Given the description of an element on the screen output the (x, y) to click on. 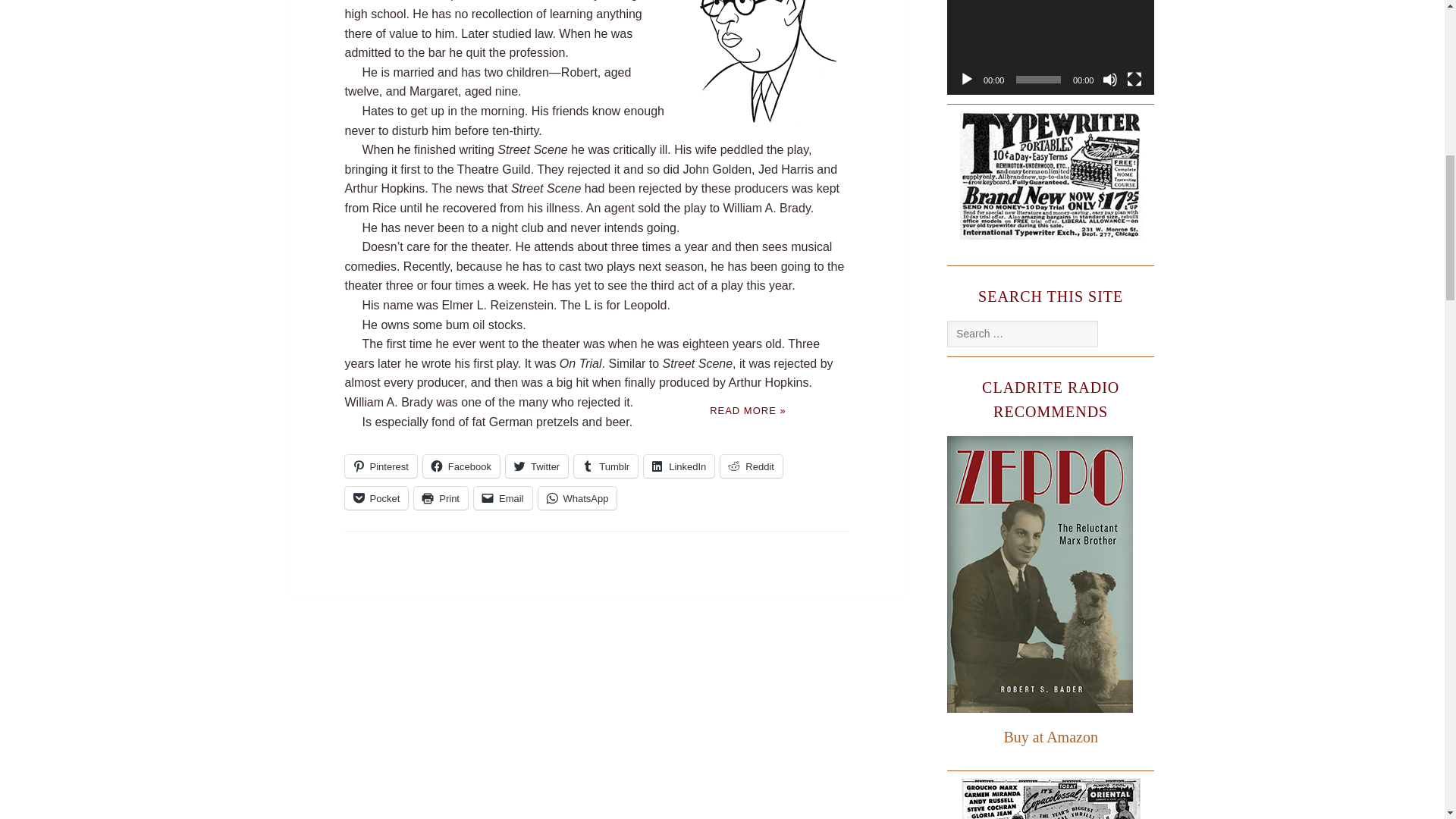
Tumblr (605, 466)
Click to share on Pocket (375, 497)
Click to share on Pinterest (379, 466)
Click to share on LinkedIn (678, 466)
Click to share on Tumblr (605, 466)
Pinterest (379, 466)
Play (966, 79)
Fullscreen (1133, 79)
Print (440, 497)
Mute (1110, 79)
Click to print (440, 497)
Reddit (751, 466)
Facebook (461, 466)
WhatsApp (577, 497)
Click to share on Twitter (536, 466)
